Given the description of an element on the screen output the (x, y) to click on. 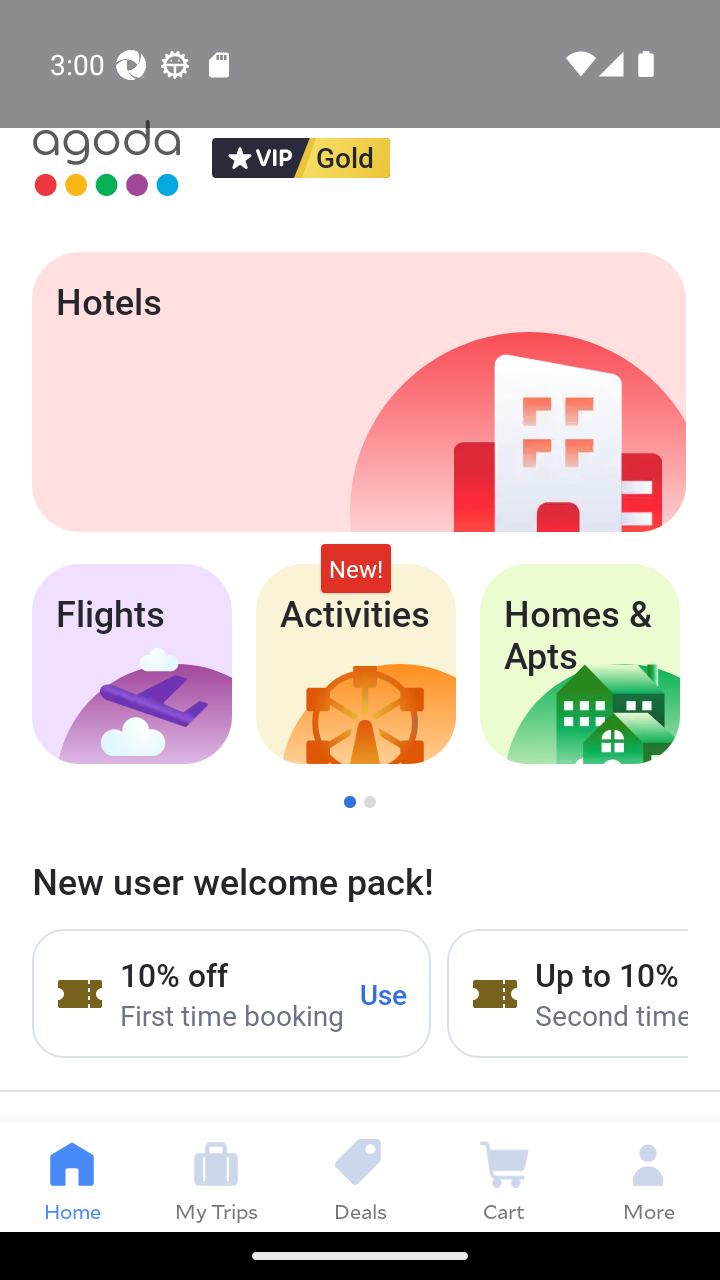
Hotels (358, 392)
New! (355, 568)
Flights (131, 664)
Activities (355, 664)
Homes & Apts (579, 664)
Use (384, 993)
Home (72, 1176)
My Trips (216, 1176)
Deals (360, 1176)
Cart (504, 1176)
More (648, 1176)
